Given the description of an element on the screen output the (x, y) to click on. 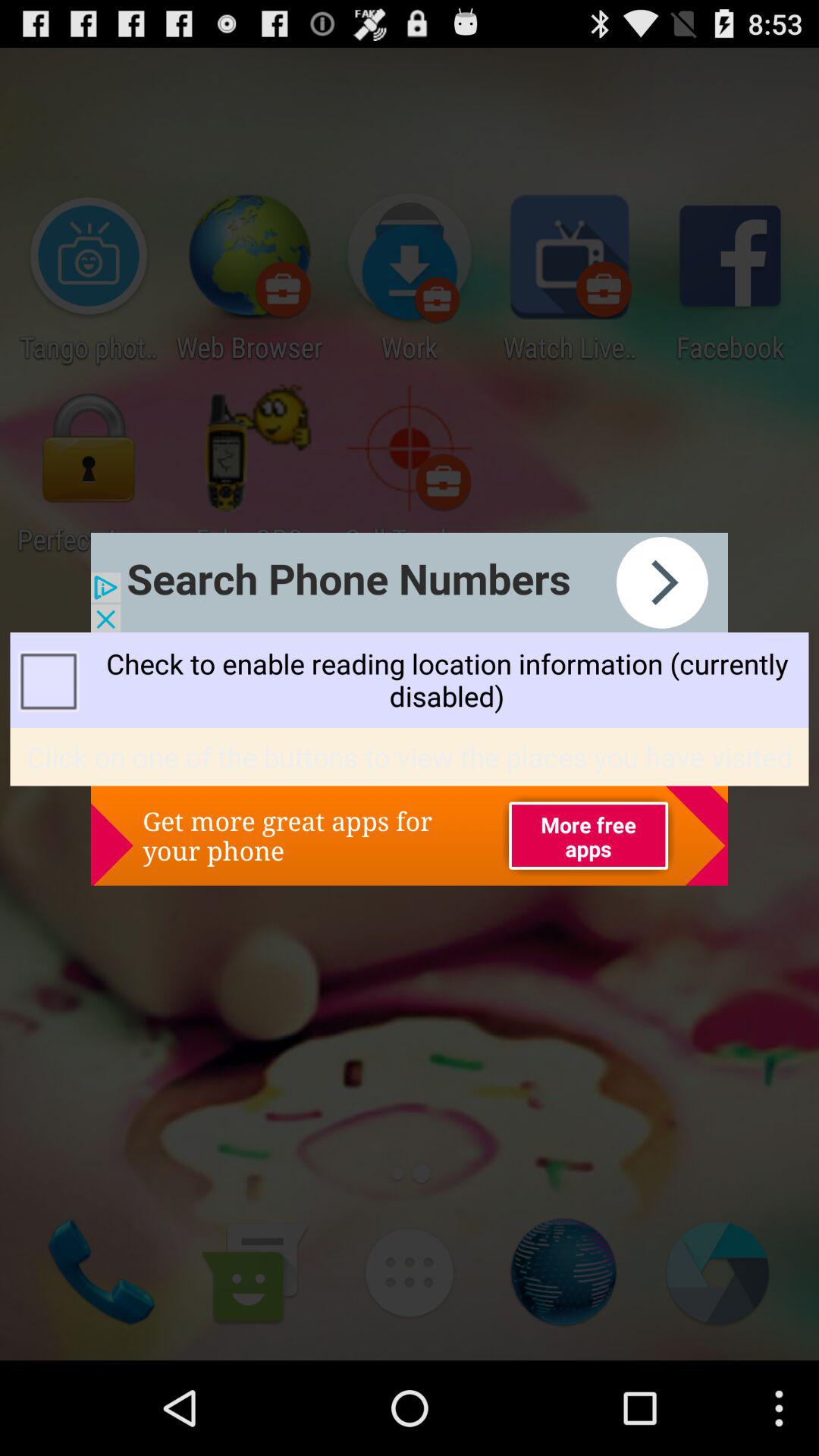
go to next (409, 582)
